Given the description of an element on the screen output the (x, y) to click on. 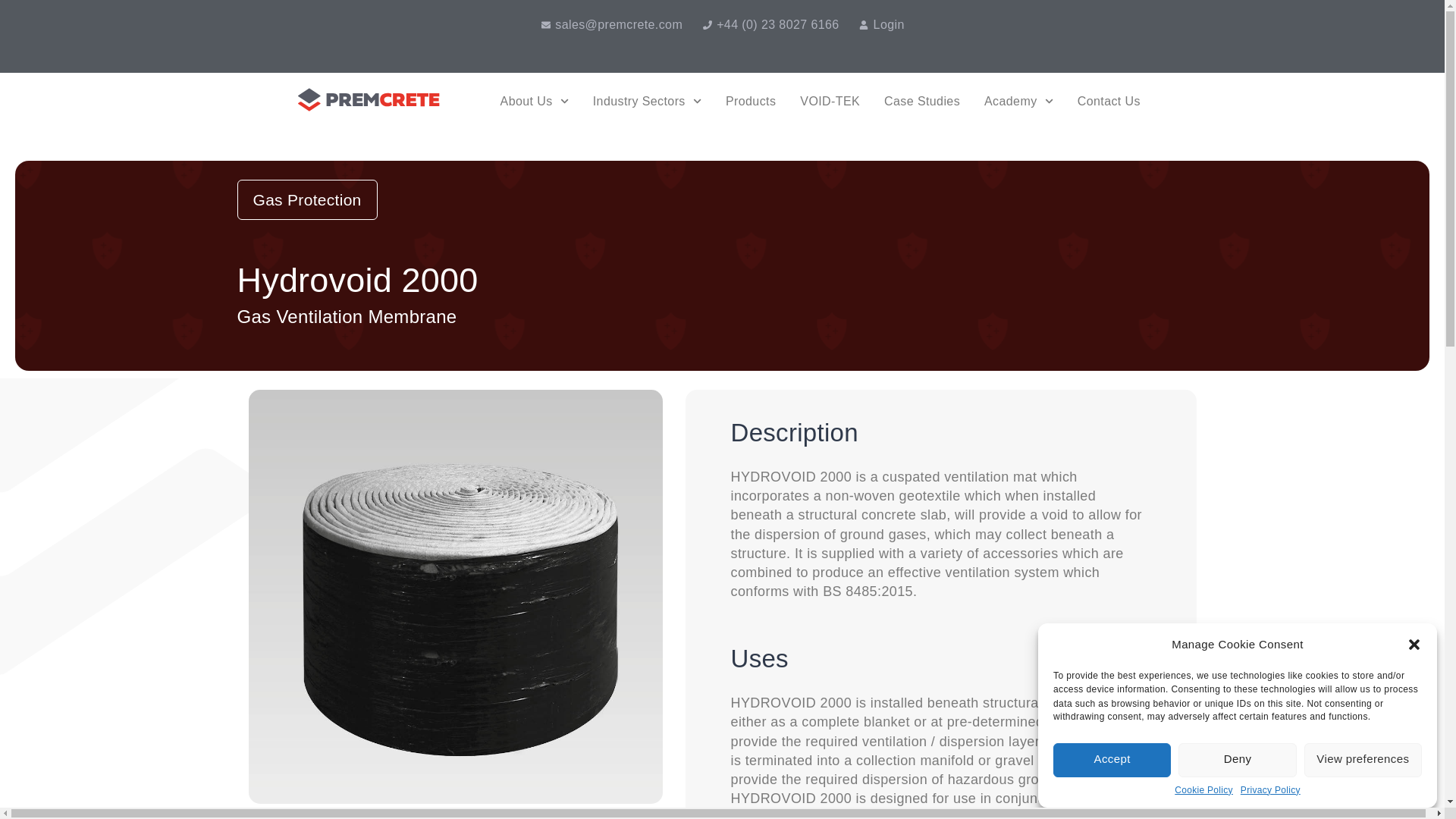
Industry Sectors (647, 101)
VOID-TEK (829, 101)
Products (750, 101)
Academy (1018, 101)
About Us (534, 101)
Login (881, 24)
Case Studies (922, 101)
